Given the description of an element on the screen output the (x, y) to click on. 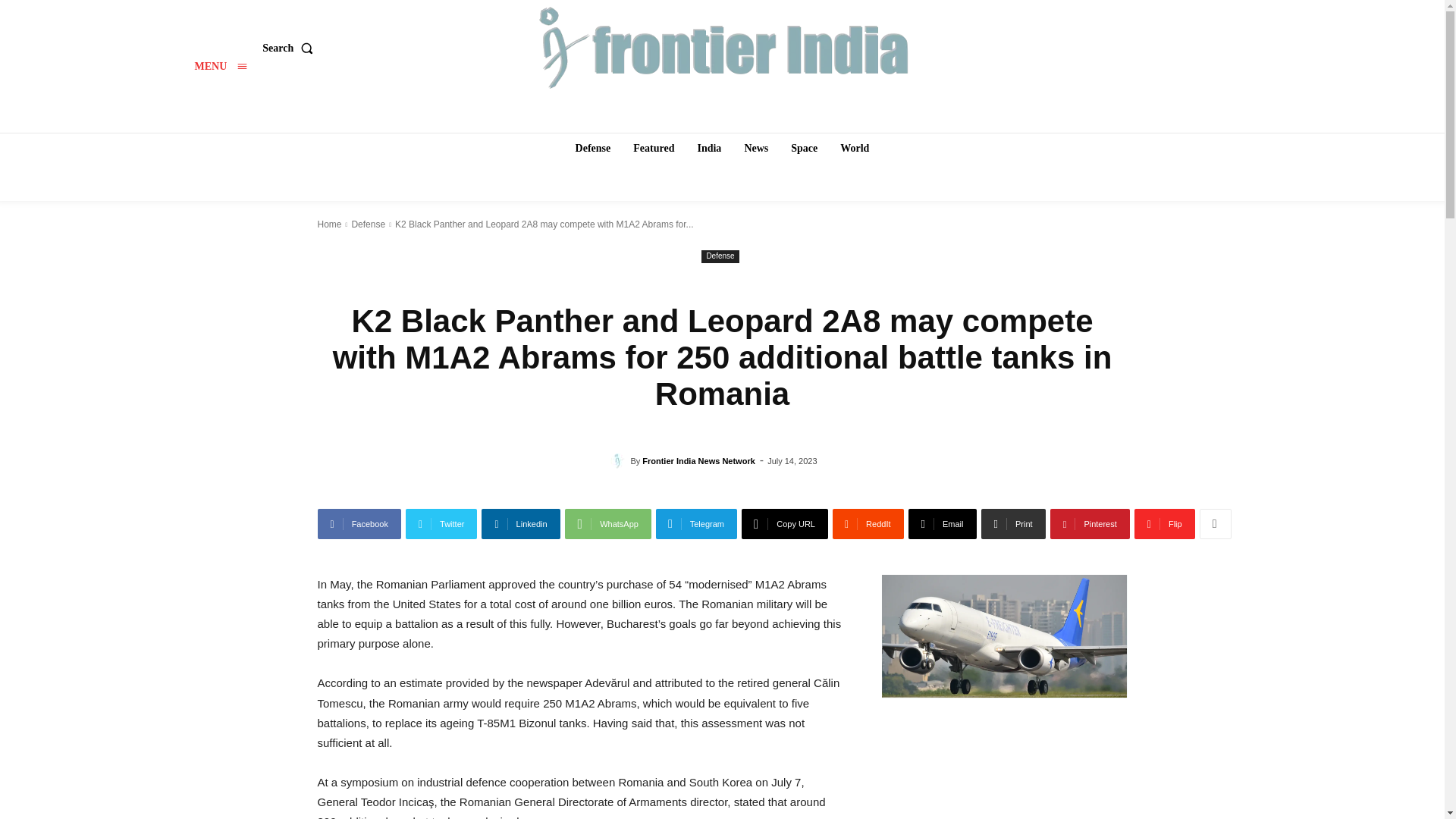
World (854, 148)
Featured (653, 148)
News (756, 148)
MENU (220, 65)
Telegram (696, 523)
Linkedin (520, 523)
Frontier India News Network (620, 460)
Home (328, 224)
WhatsApp (607, 523)
View all posts in Defense (367, 224)
Twitter (441, 523)
Defense (592, 148)
Facebook (358, 523)
India (708, 148)
Search (290, 47)
